Given the description of an element on the screen output the (x, y) to click on. 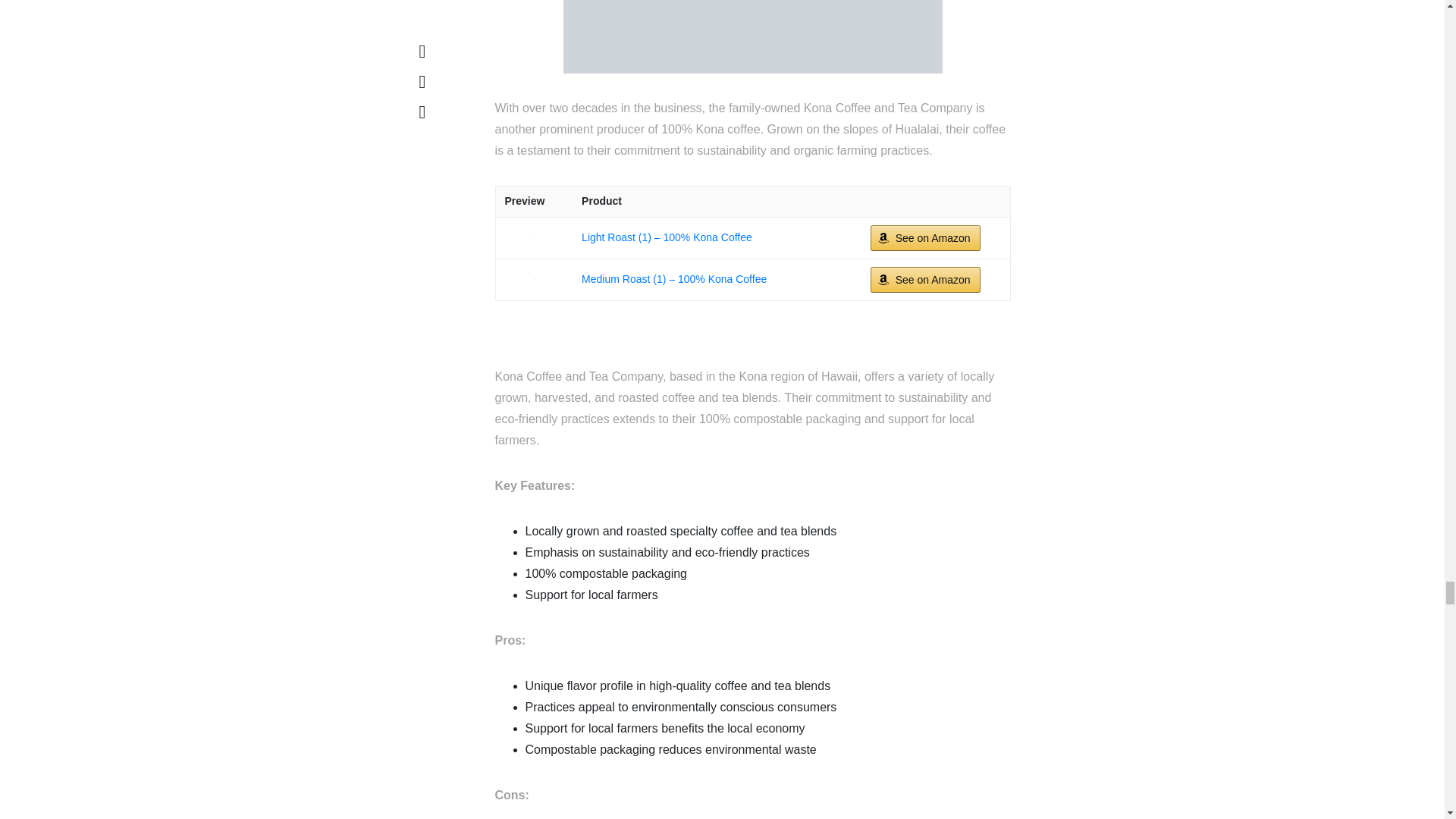
See on Amazon (924, 237)
See on Amazon (924, 279)
